Given the description of an element on the screen output the (x, y) to click on. 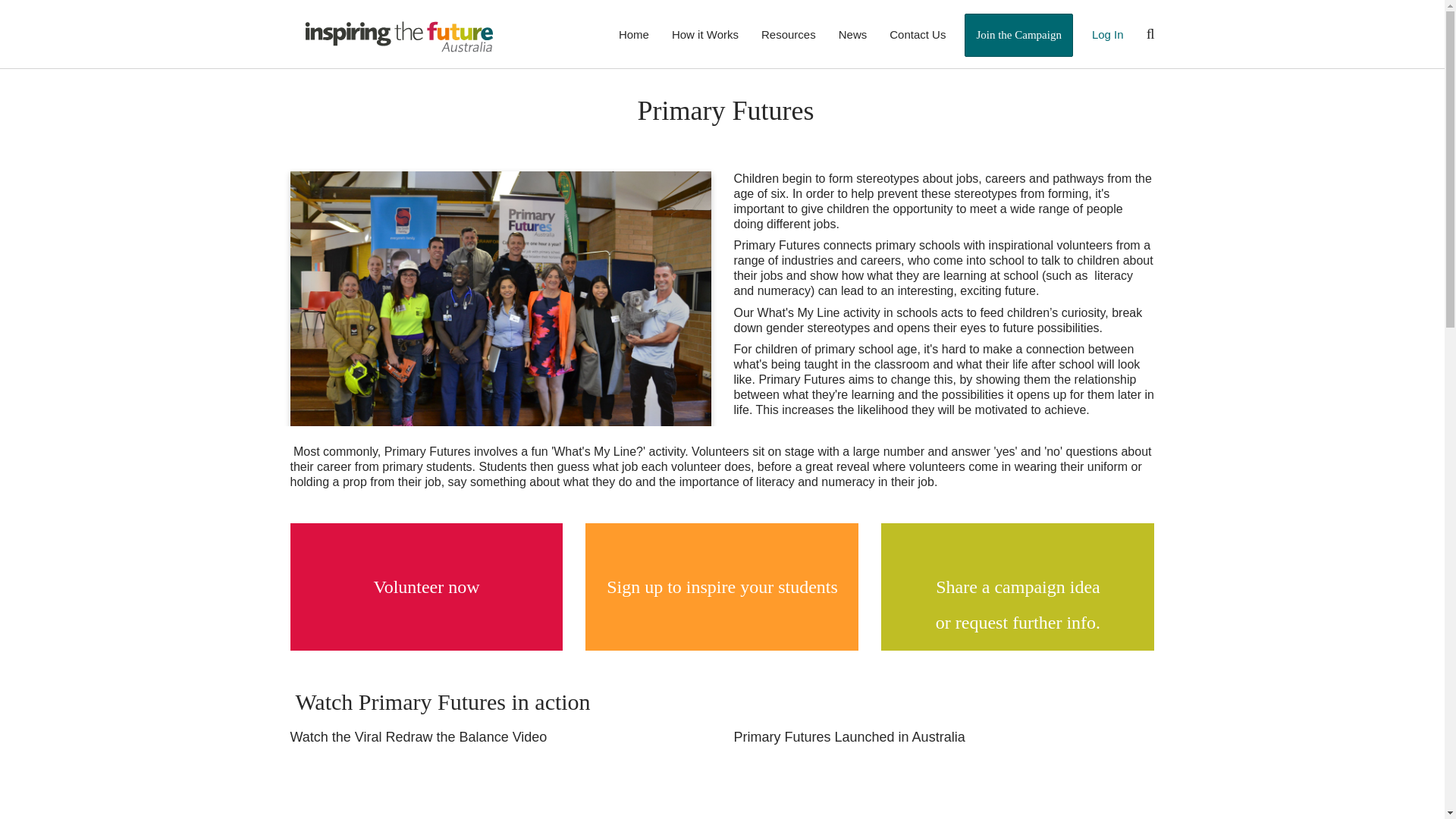
Inspiring The Future AUSTRALIA (398, 35)
Join the Campaign (1018, 34)
Resources (788, 33)
Contact Us (916, 33)
How it Works (705, 33)
